Given the description of an element on the screen output the (x, y) to click on. 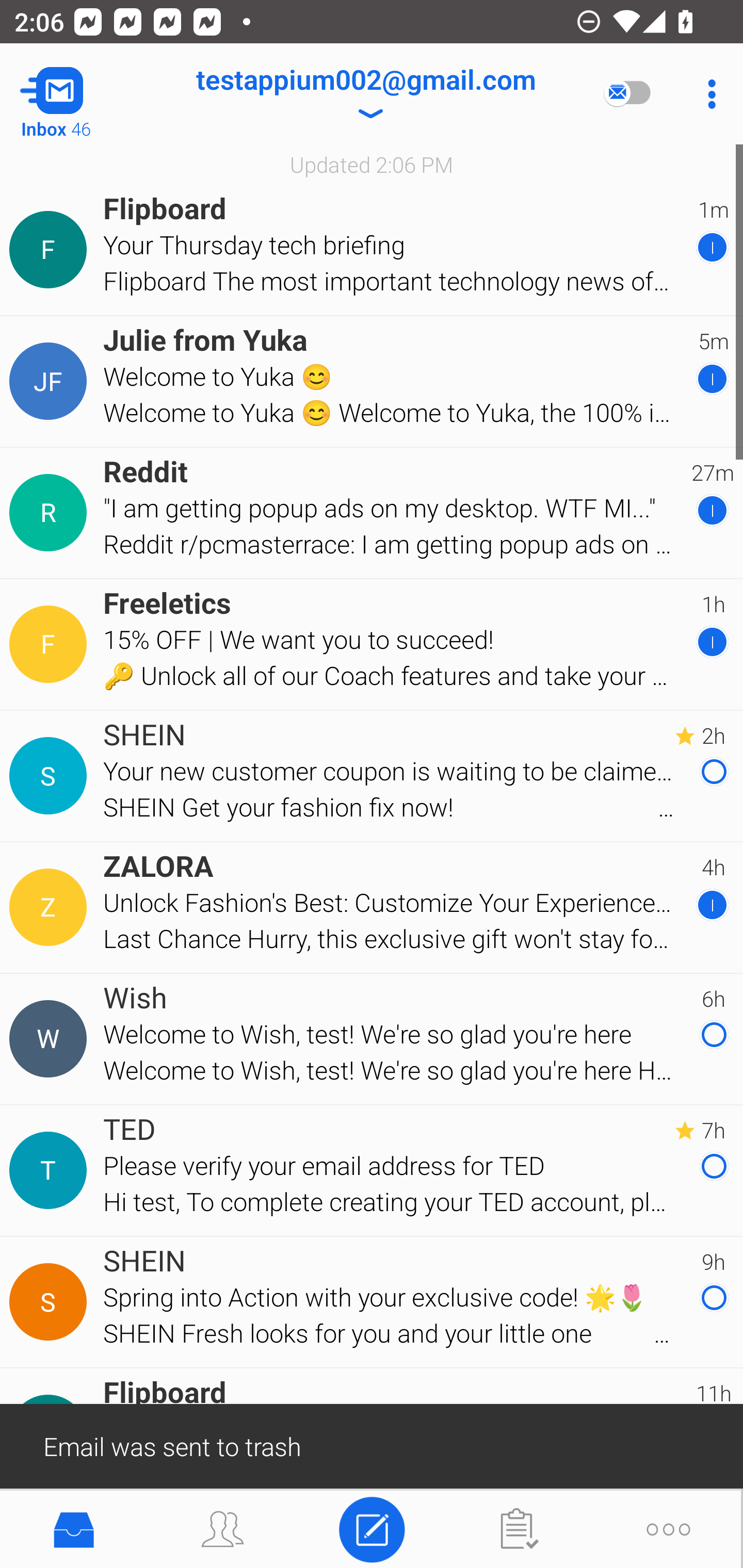
Navigate up (81, 93)
testappium002@gmail.com (365, 93)
More Options (706, 93)
Updated 2:06 PM (371, 164)
Contact Details (50, 250)
Contact Details (50, 381)
Contact Details (50, 513)
Contact Details (50, 644)
Contact Details (50, 776)
Contact Details (50, 907)
Contact Details (50, 1038)
Contact Details (50, 1170)
Contact Details (50, 1302)
Email was sent to trash (371, 1445)
Compose (371, 1528)
